Given the description of an element on the screen output the (x, y) to click on. 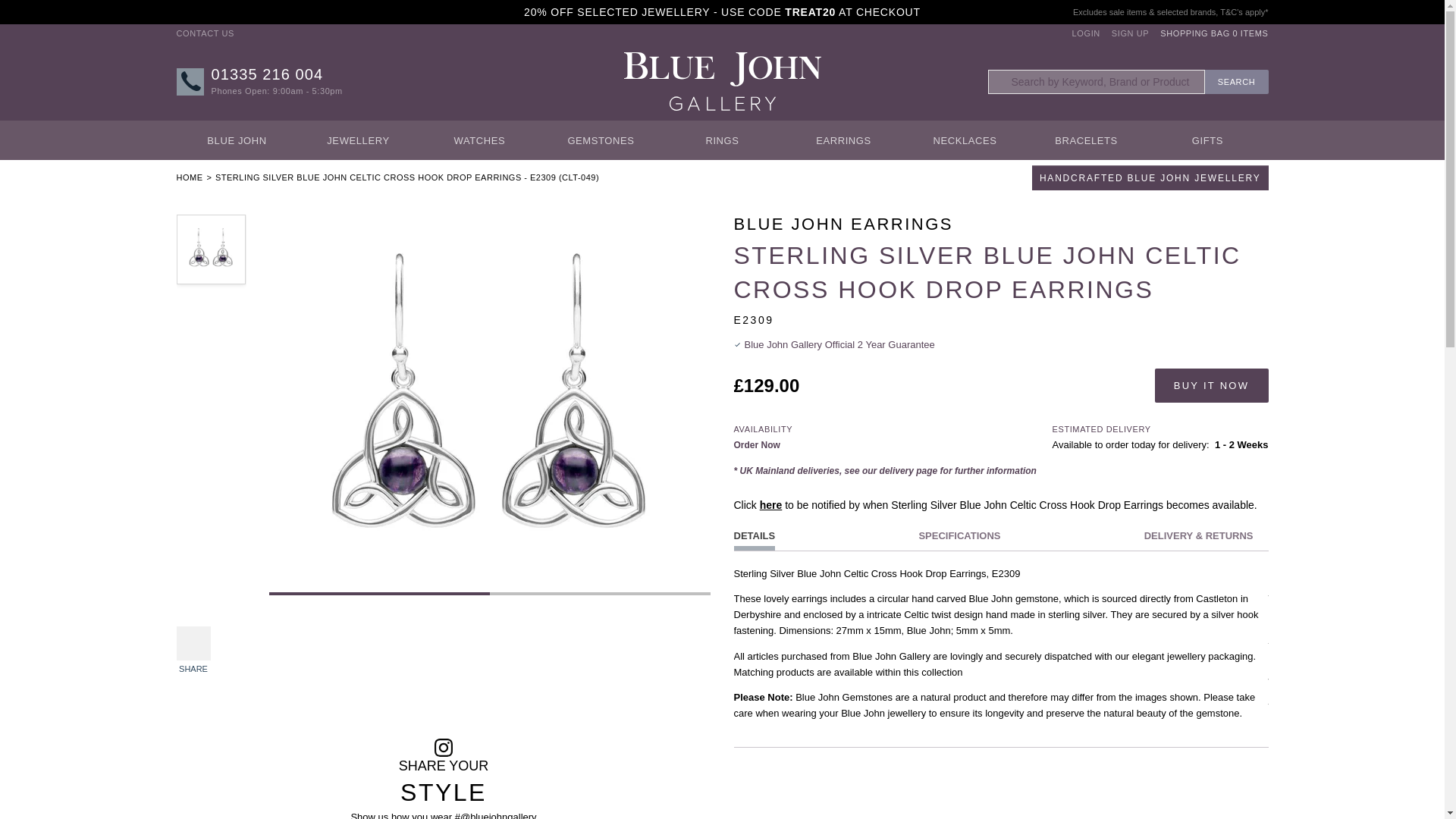
SIGN UP (1214, 33)
Back to homepage (1130, 33)
01335 216 004 (189, 177)
LOGIN (267, 74)
CONTACT US (1085, 33)
SEARCH (205, 33)
BLUE JOHN (1236, 81)
